Given the description of an element on the screen output the (x, y) to click on. 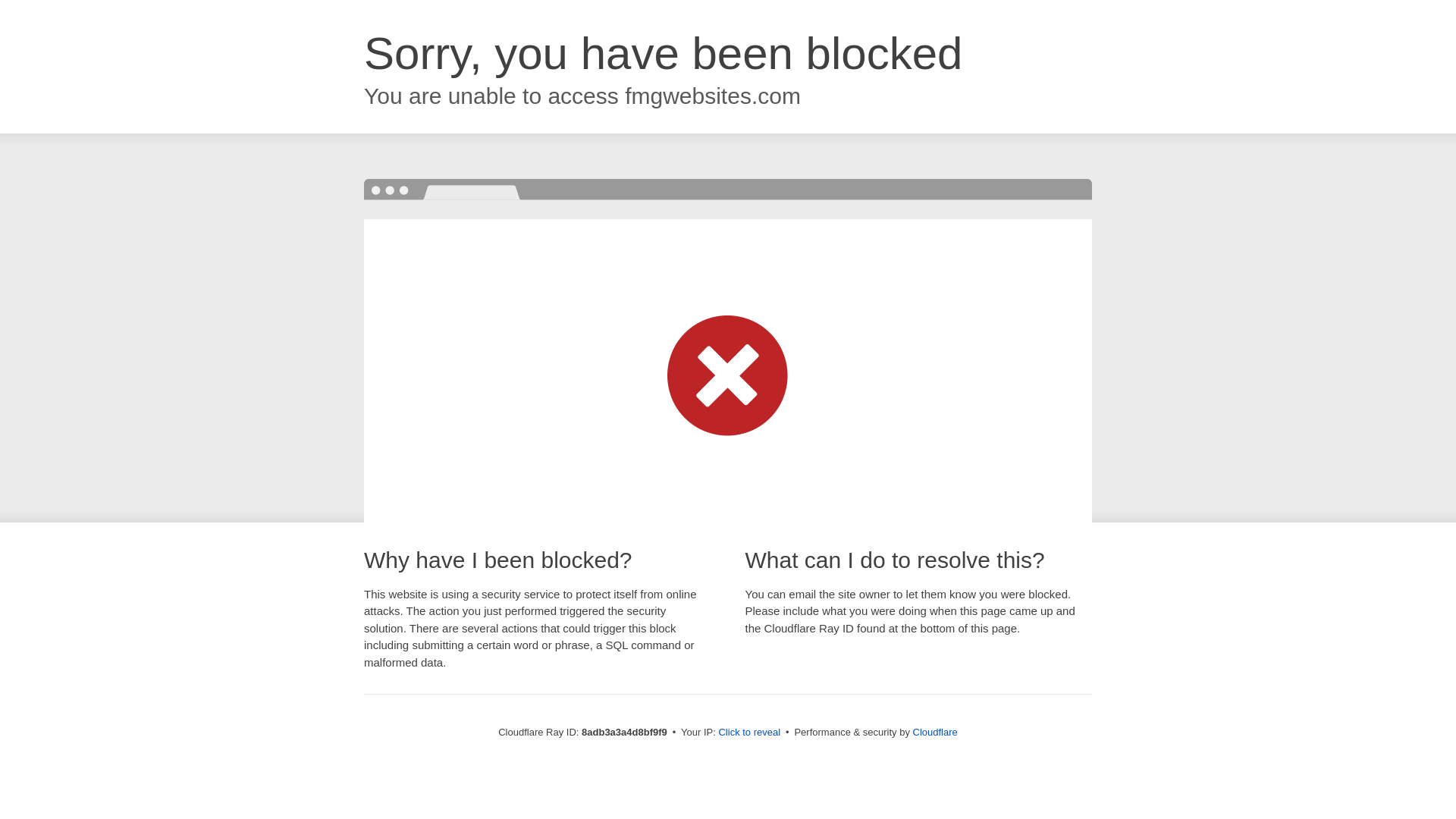
Click to reveal (748, 732)
Cloudflare (935, 731)
